Given the description of an element on the screen output the (x, y) to click on. 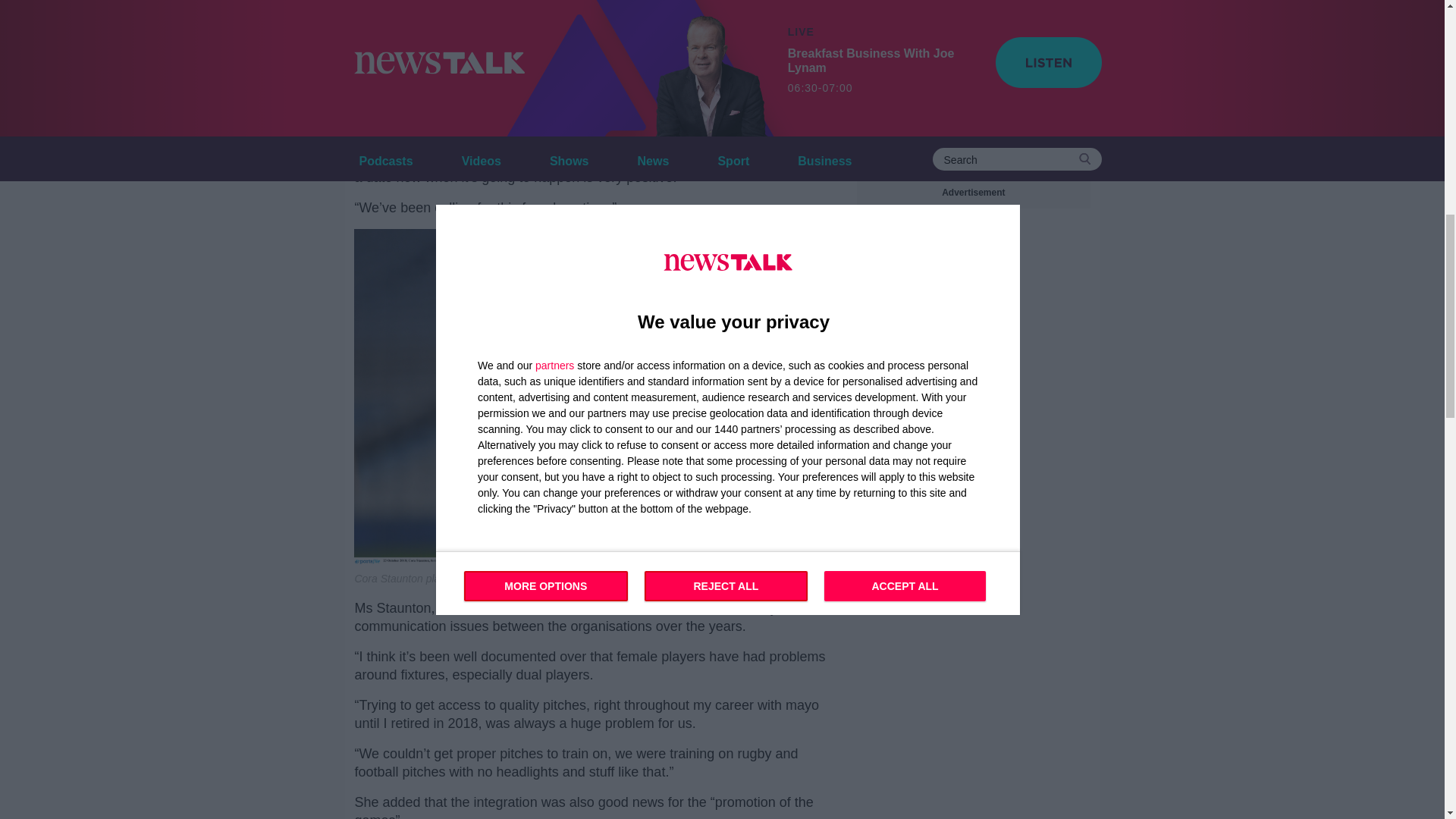
The Hard Shoulder (436, 61)
